Given the description of an element on the screen output the (x, y) to click on. 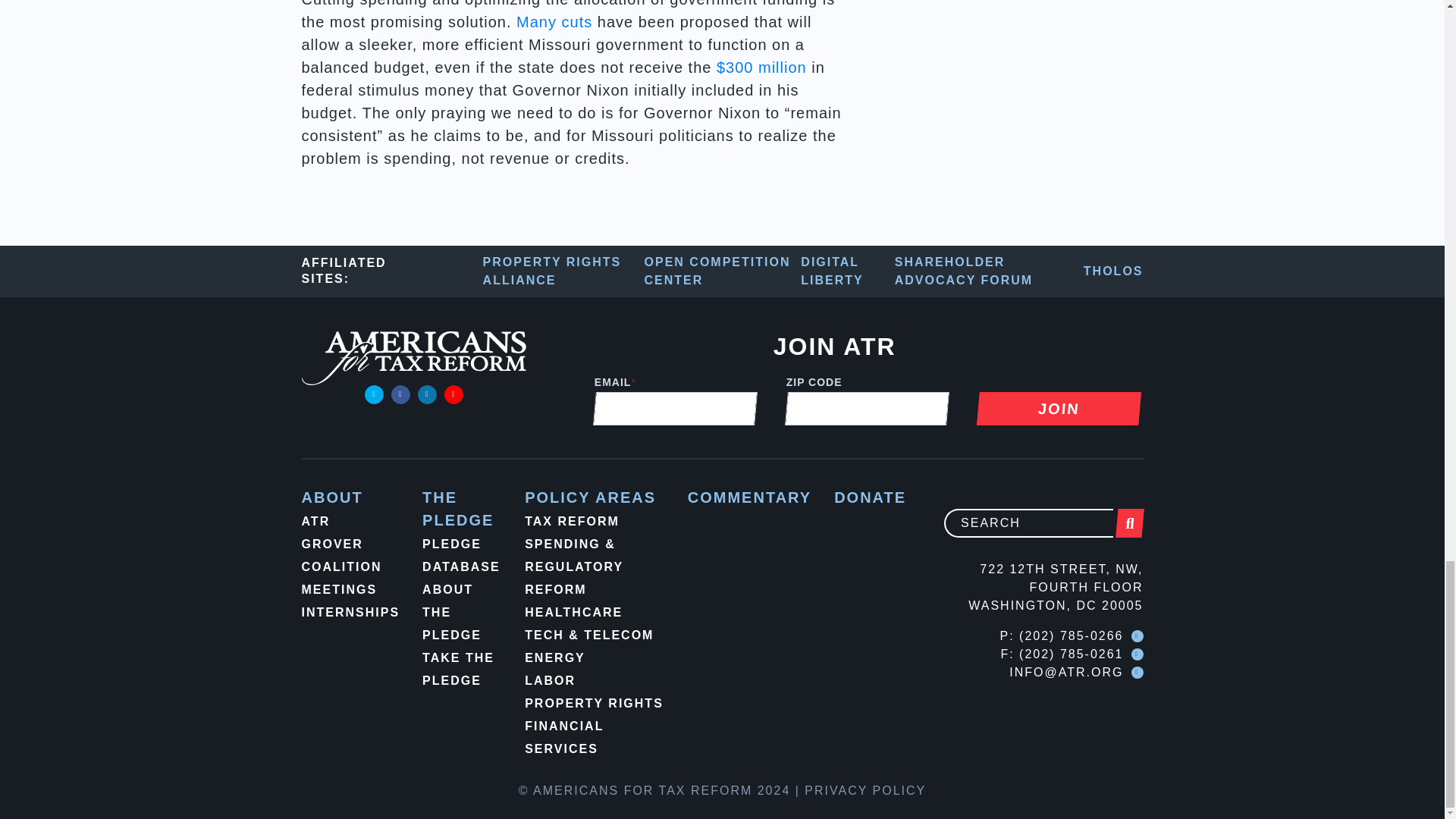
Join (1057, 408)
